Given the description of an element on the screen output the (x, y) to click on. 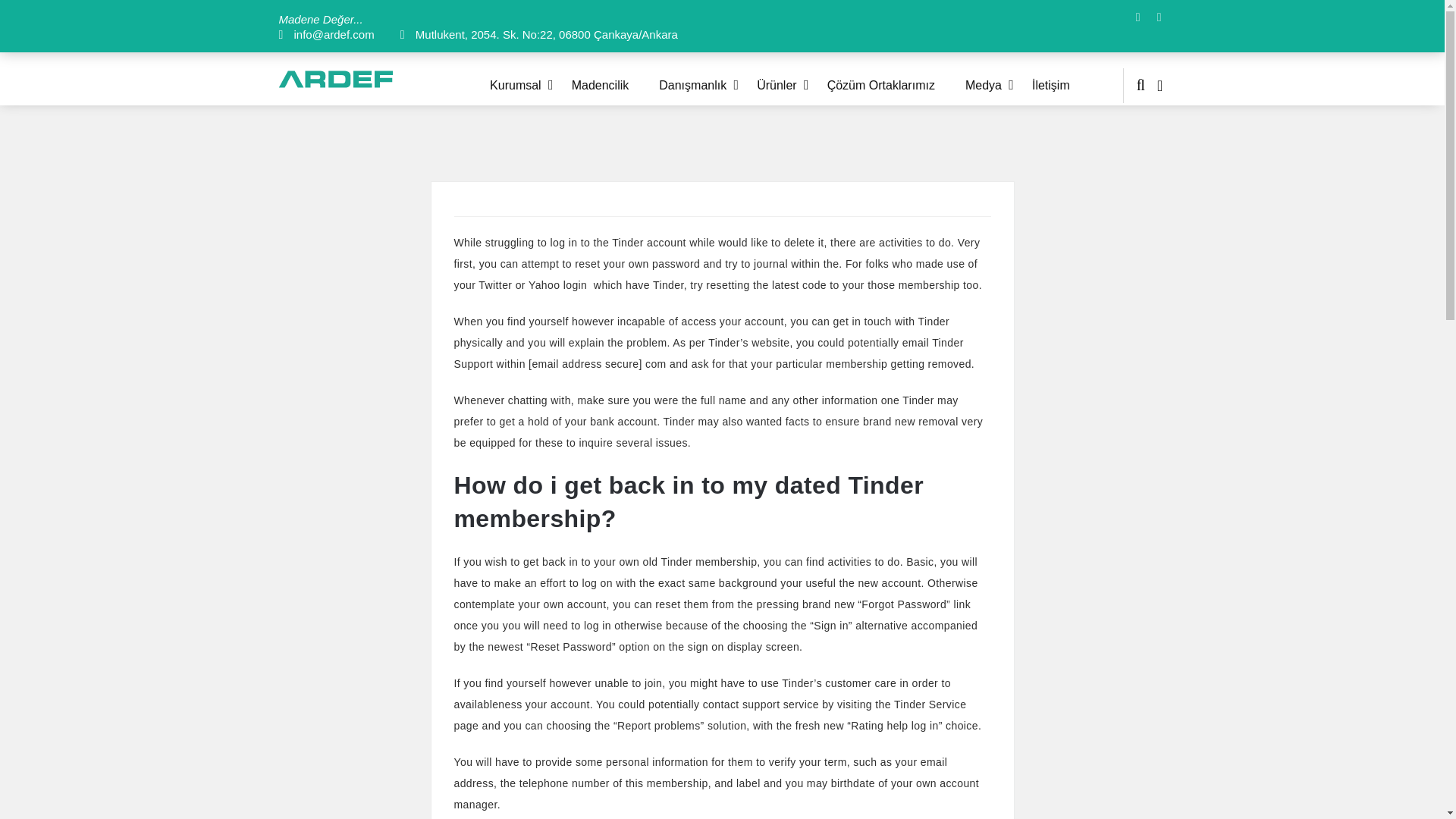
Madencilik (615, 84)
Medya (998, 84)
Kurumsal (530, 84)
